Given the description of an element on the screen output the (x, y) to click on. 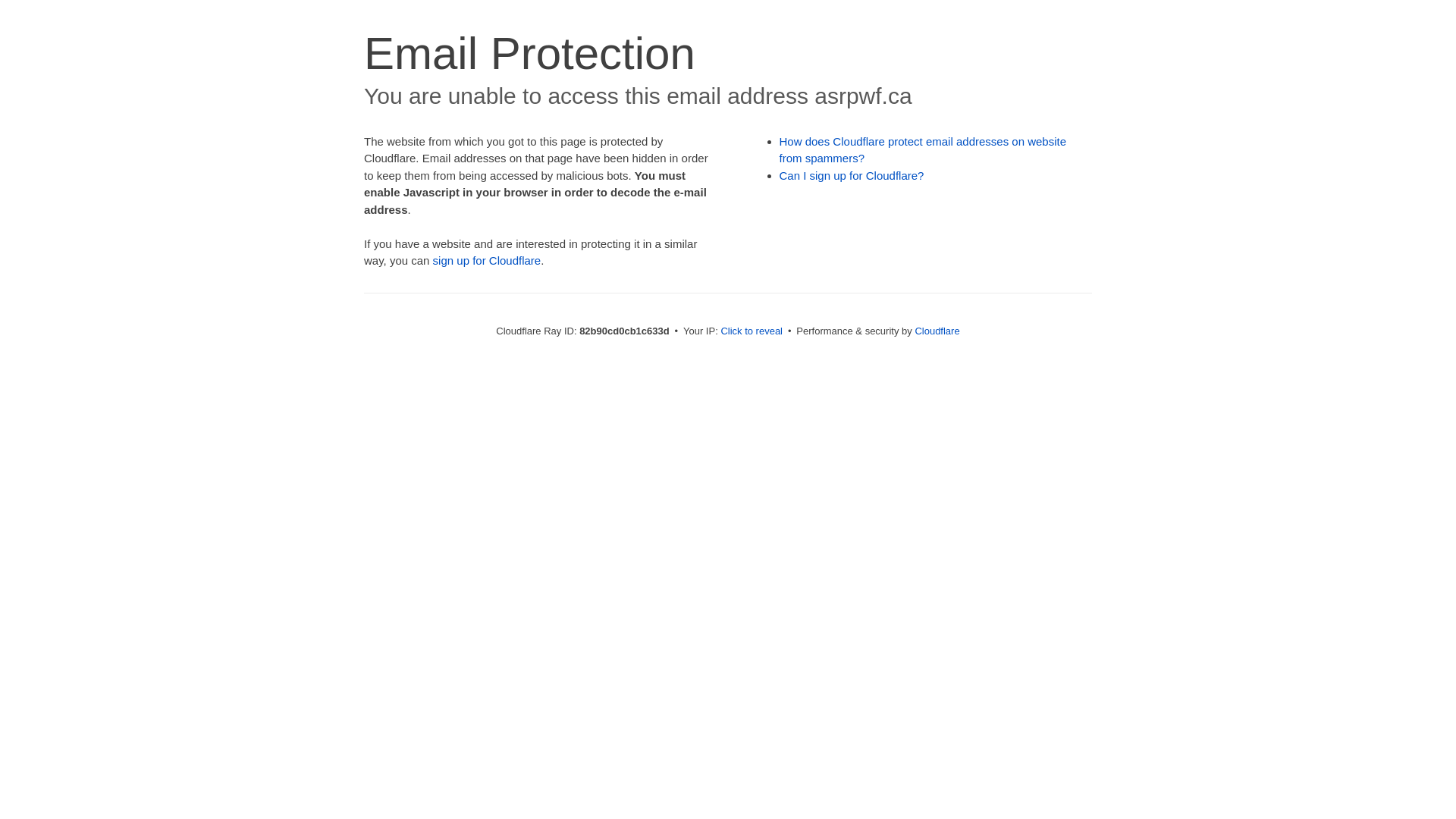
Click to reveal Element type: text (751, 330)
Can I sign up for Cloudflare? Element type: text (851, 175)
Cloudflare Element type: text (936, 330)
sign up for Cloudflare Element type: text (487, 260)
